Given the description of an element on the screen output the (x, y) to click on. 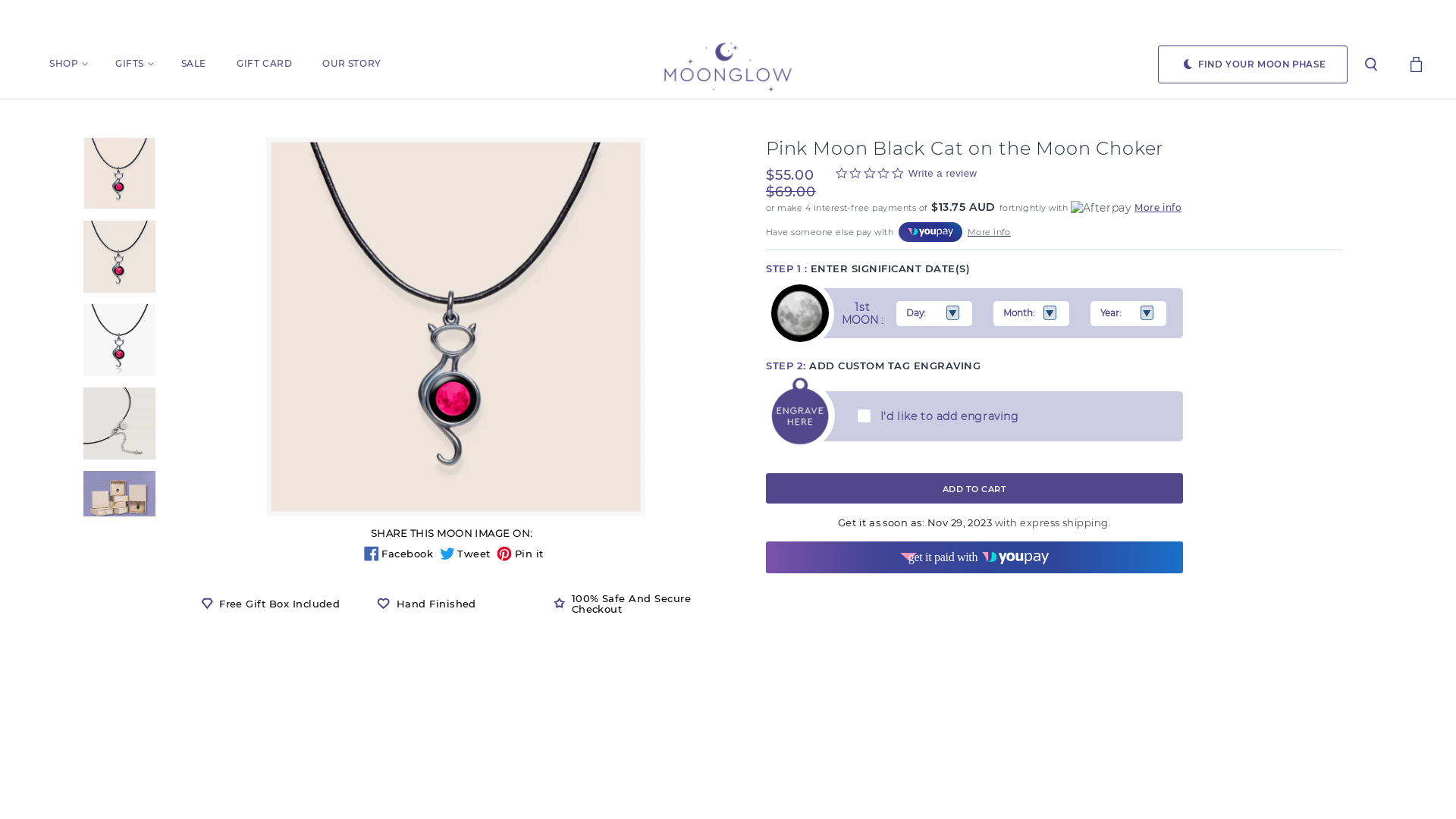
More info Element type: text (1157, 207)
Tweet
Tweet on Twitter Element type: text (466, 553)
Cart Element type: hover (1415, 64)
SEARCH CREATED WITH SKETCHTOOL.
SEARCH Element type: text (1371, 63)
Have someone else pay with
More info Element type: text (887, 231)
OUR STORY Element type: text (366, 53)
SALE Element type: text (208, 53)
Free Gift Box Included Element type: text (279, 603)
Hand Finished Element type: text (455, 603)
GIFTS Element type: text (148, 53)
Facebook
Share on Facebook Element type: text (400, 553)
I'd like to add engraving Element type: text (941, 416)
GIFT CARD Element type: text (279, 53)
ADD TO CART Element type: text (974, 488)
Write a review Element type: text (942, 173)
Pin it
Pin on Pinterest Element type: text (519, 553)
SHOP Element type: text (82, 53)
0 Element type: text (1416, 64)
get it paid with Element type: text (974, 557)
100% Safe And Secure Checkout Element type: text (631, 603)
